Given the description of an element on the screen output the (x, y) to click on. 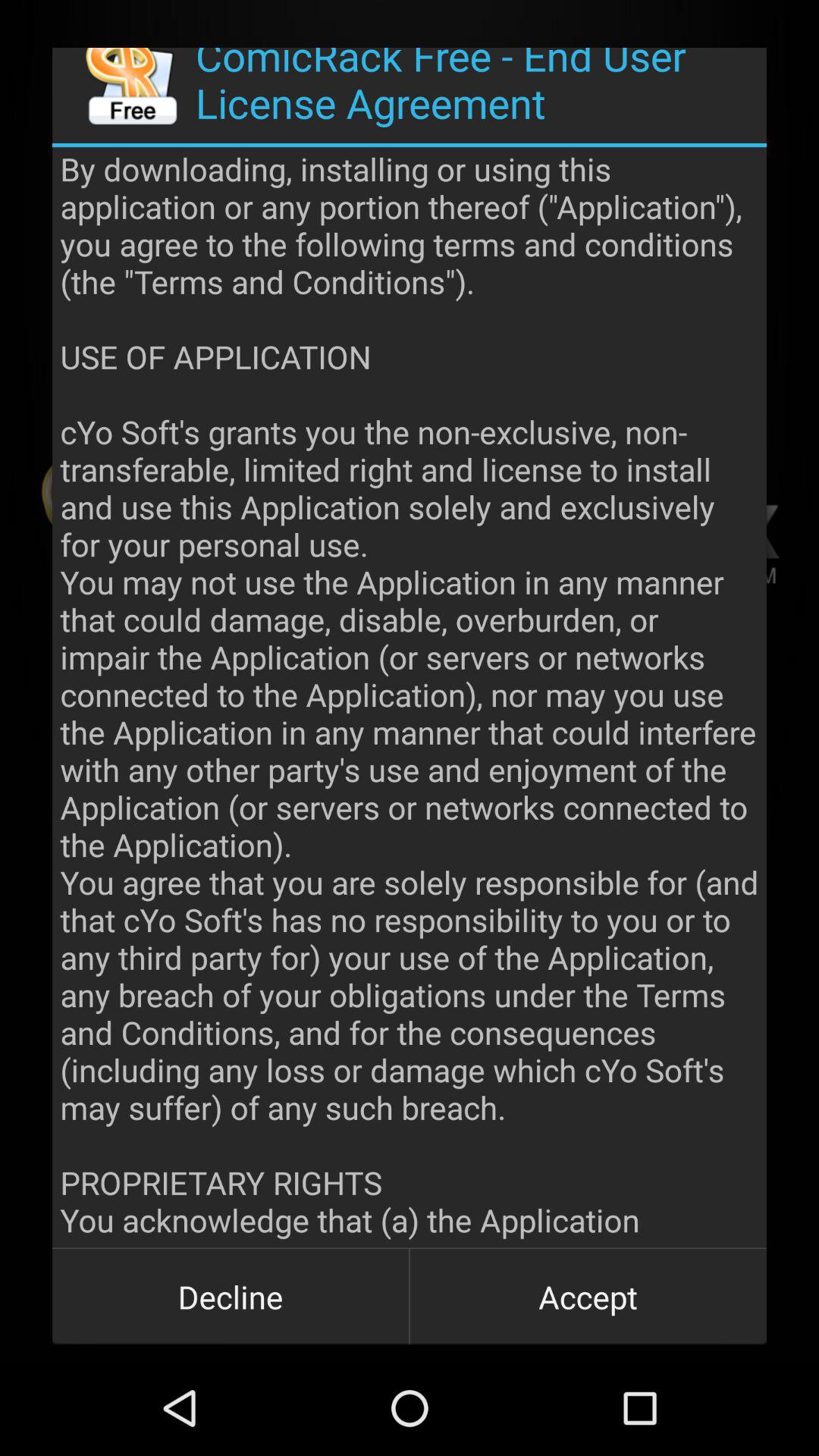
choose button to the right of the decline icon (588, 1296)
